Given the description of an element on the screen output the (x, y) to click on. 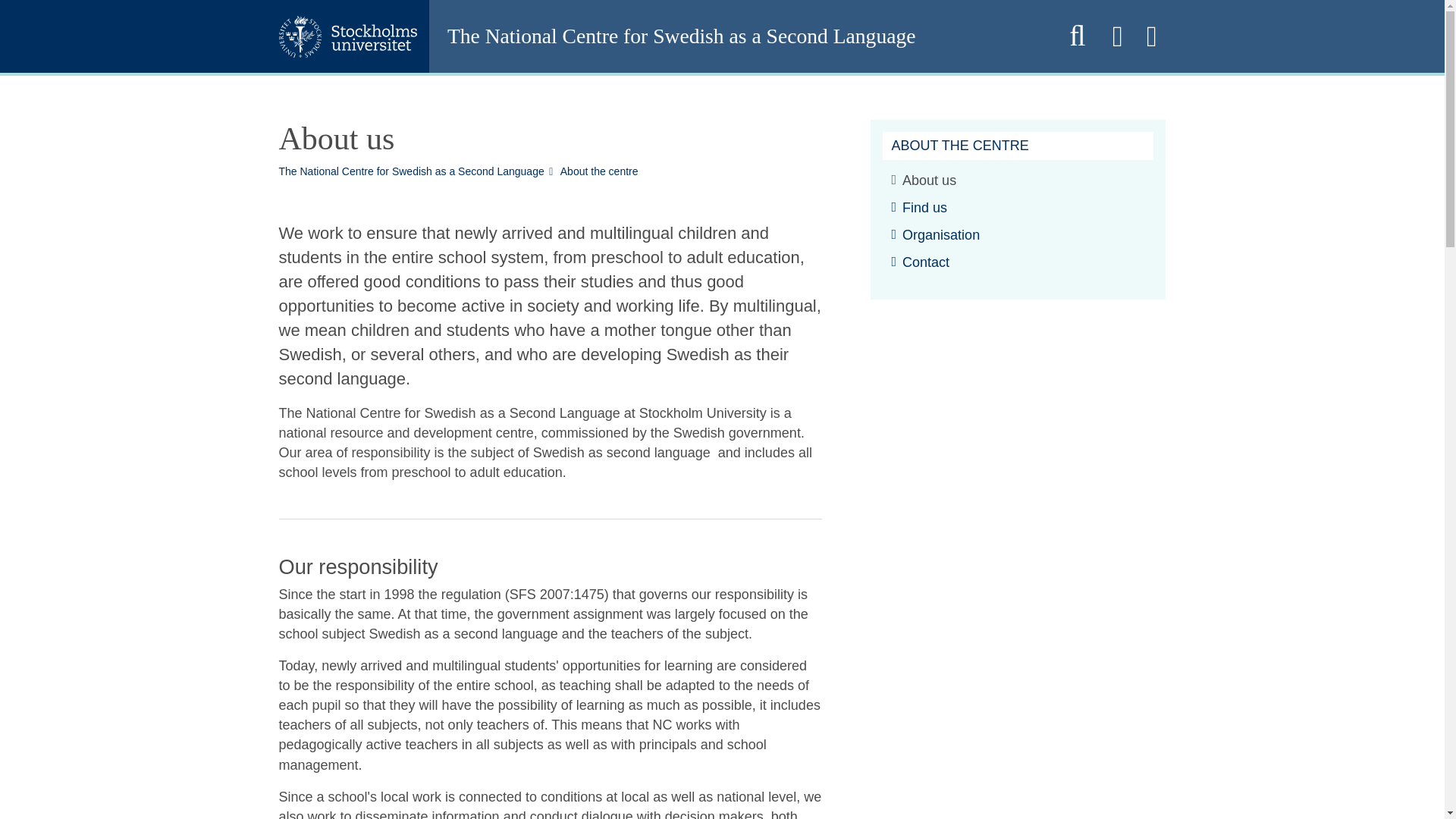
ABOUT THE CENTRE (960, 145)
The National Centre for Swedish as a Second Language (736, 36)
Hem till webbplatsen (736, 36)
Organisation (935, 235)
The National Centre for Swedish as a Second Language (411, 171)
About the centre (599, 171)
Contact (920, 262)
Find us (919, 207)
